Given the description of an element on the screen output the (x, y) to click on. 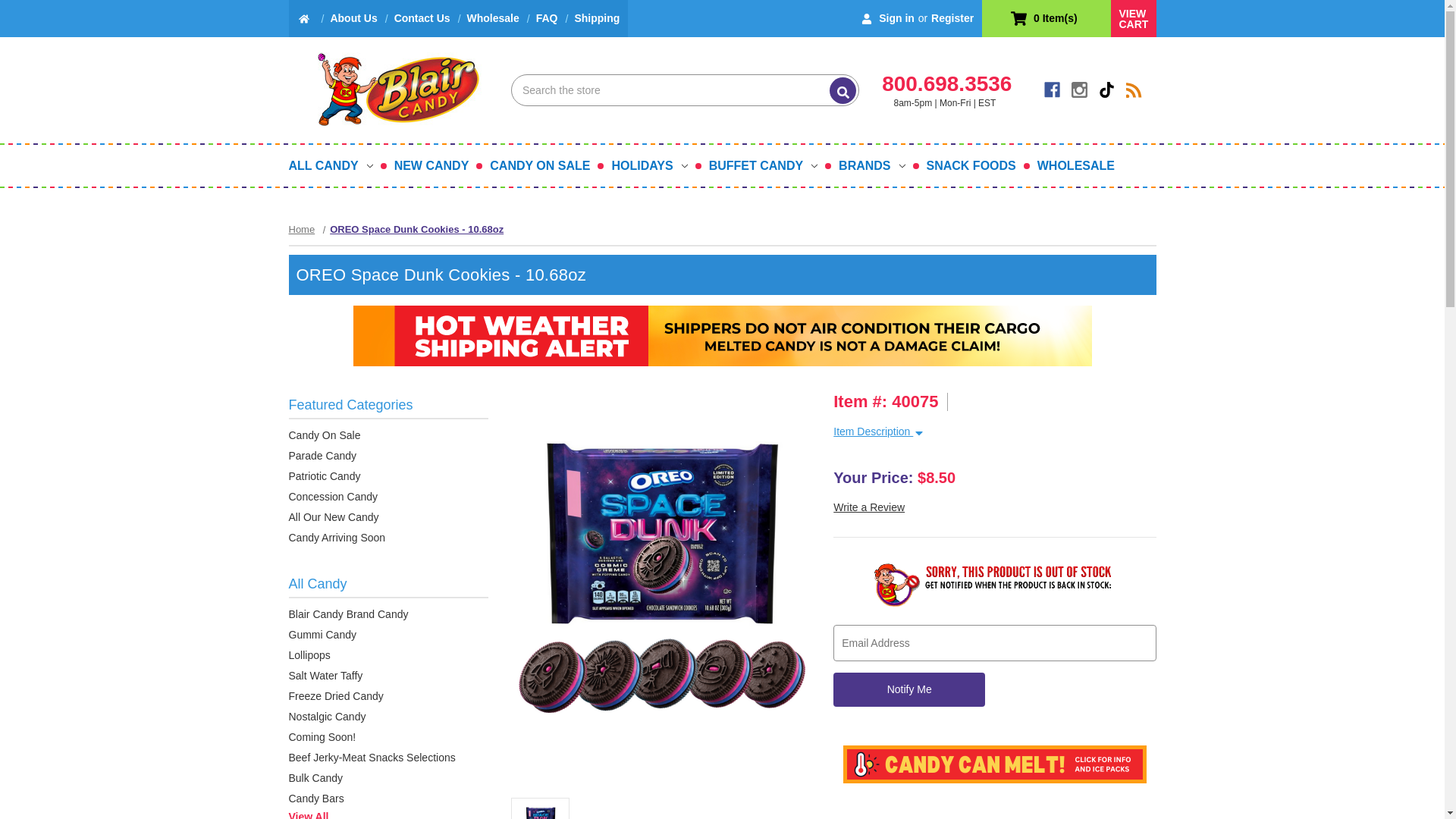
Sign in (886, 18)
FAQ (546, 18)
Register (952, 18)
Wholesale (492, 18)
Blair Candy Company (388, 89)
Contact Us (421, 18)
VIEW CART (1132, 18)
ALL CANDY (335, 165)
Shipping (596, 18)
About Us (353, 18)
